Given the description of an element on the screen output the (x, y) to click on. 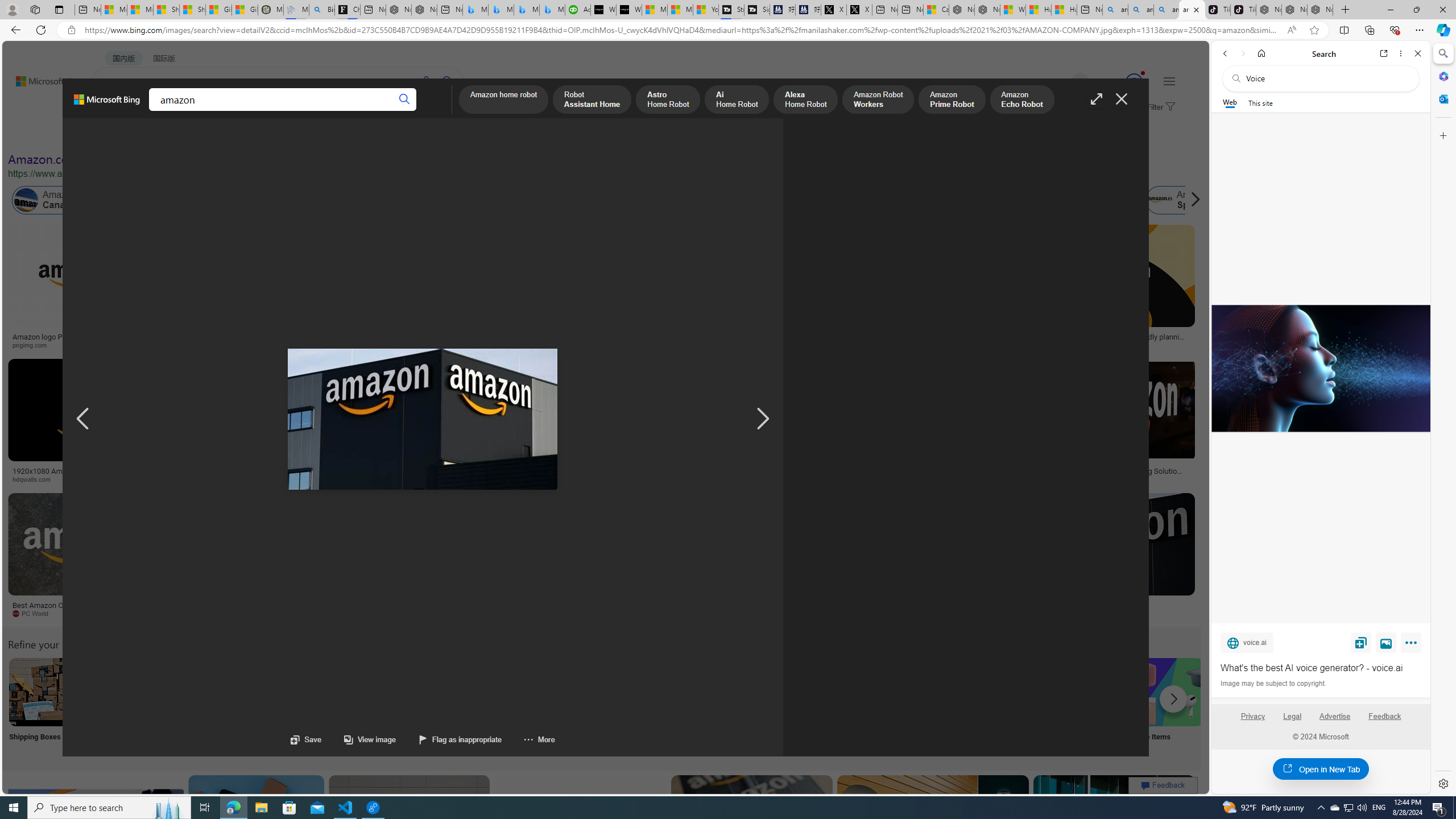
MORE (443, 111)
Microsoft 365 (1442, 76)
Echo Dot 4th Gen (673, 264)
Astro Home Robot (668, 100)
Microsoft Rewards 135 (1120, 81)
App bar (728, 29)
Amazonprotothema.grSave (1104, 557)
hdqwalls.com (96, 479)
